Given the description of an element on the screen output the (x, y) to click on. 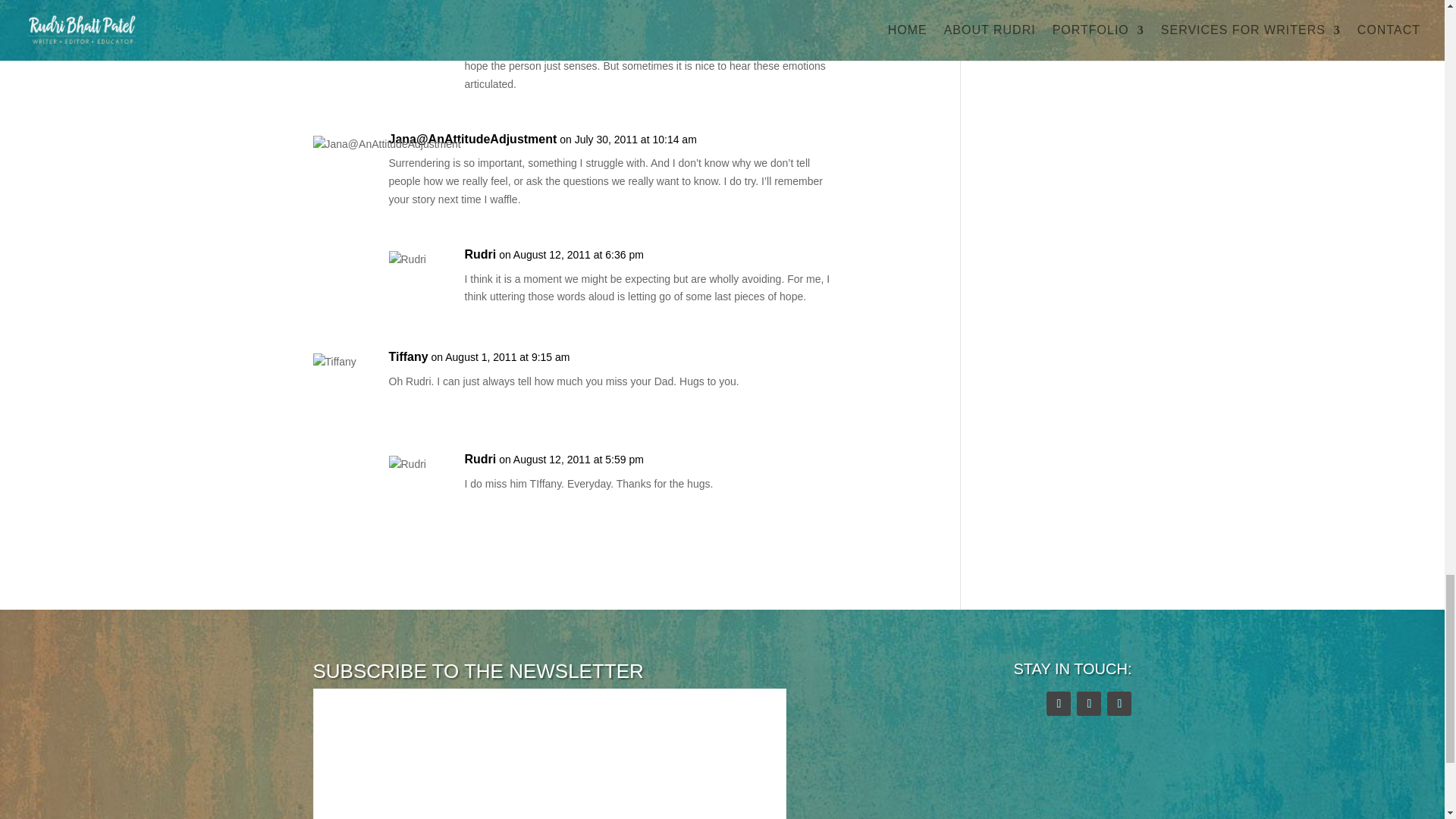
Tiffany (408, 357)
Follow on LinkedIn (1118, 703)
Follow on X (1058, 703)
Follow on Facebook (1088, 703)
